Given the description of an element on the screen output the (x, y) to click on. 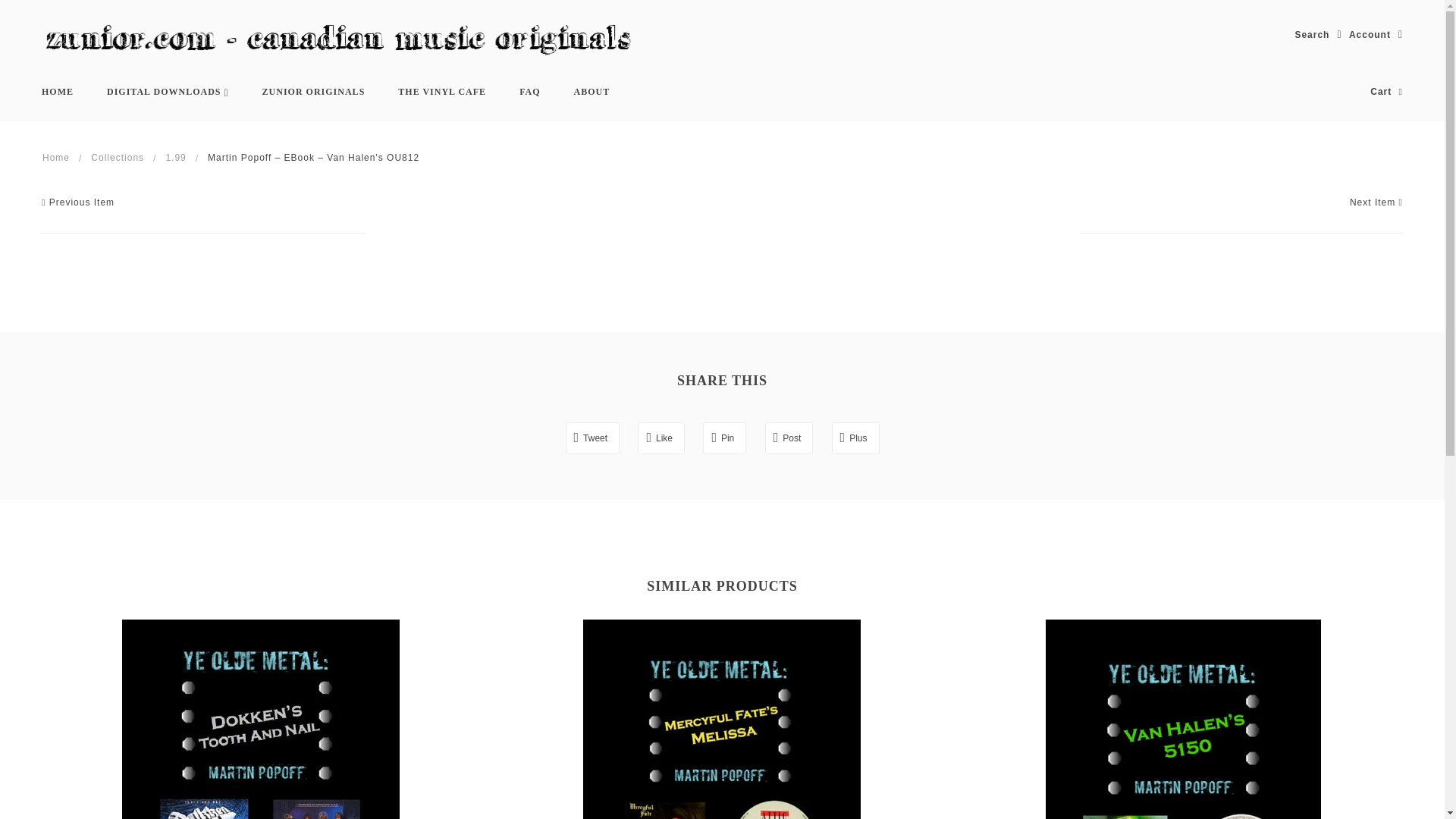
HOME (57, 91)
ZUNIOR ORIGINALS (313, 91)
DIGITAL DOWNLOADS (167, 91)
Account (1376, 34)
Search (1317, 34)
FAQ (528, 91)
THE VINYL CAFE (441, 91)
Cart (1386, 91)
Zunior.com  -  Canadian Music Originals (344, 40)
ABOUT (592, 91)
